Given the description of an element on the screen output the (x, y) to click on. 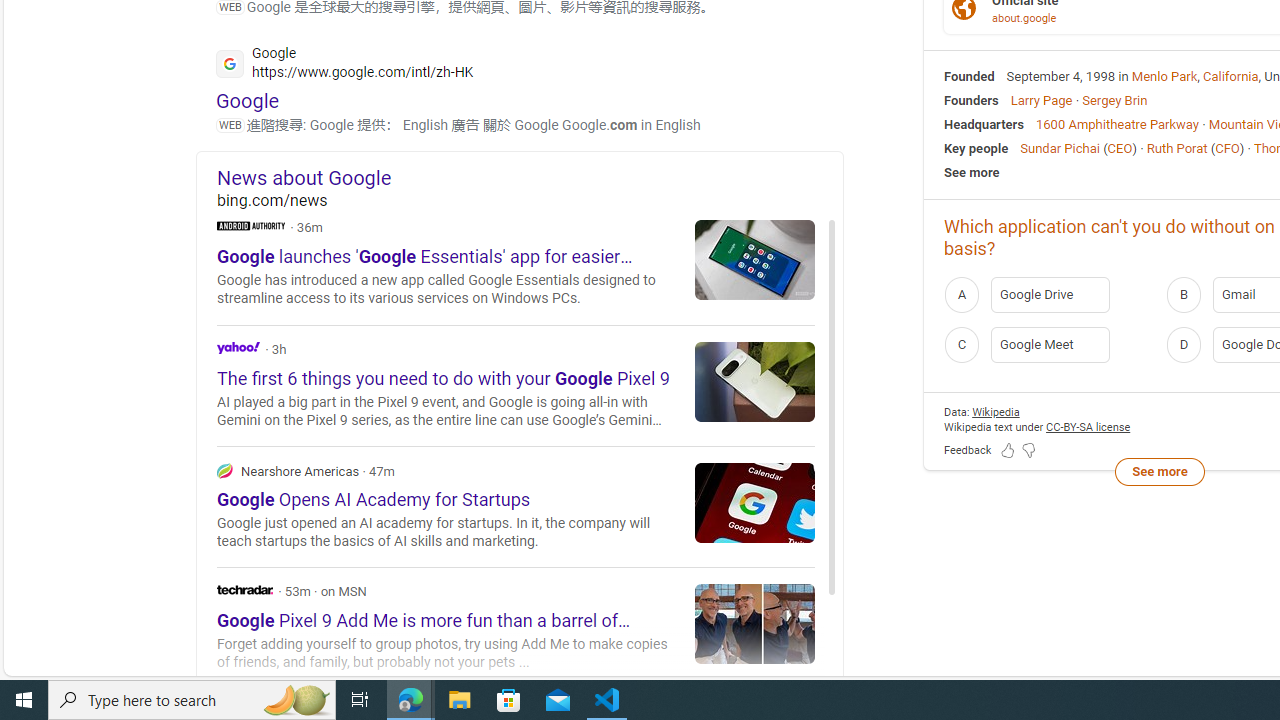
Ruth Porat (1176, 147)
News about Google (530, 177)
Sundar Pichai (1059, 147)
Nearshore Americas (224, 470)
Yahoo (238, 347)
A Google Drive (1049, 294)
Feedback Dislike (1028, 450)
